Given the description of an element on the screen output the (x, y) to click on. 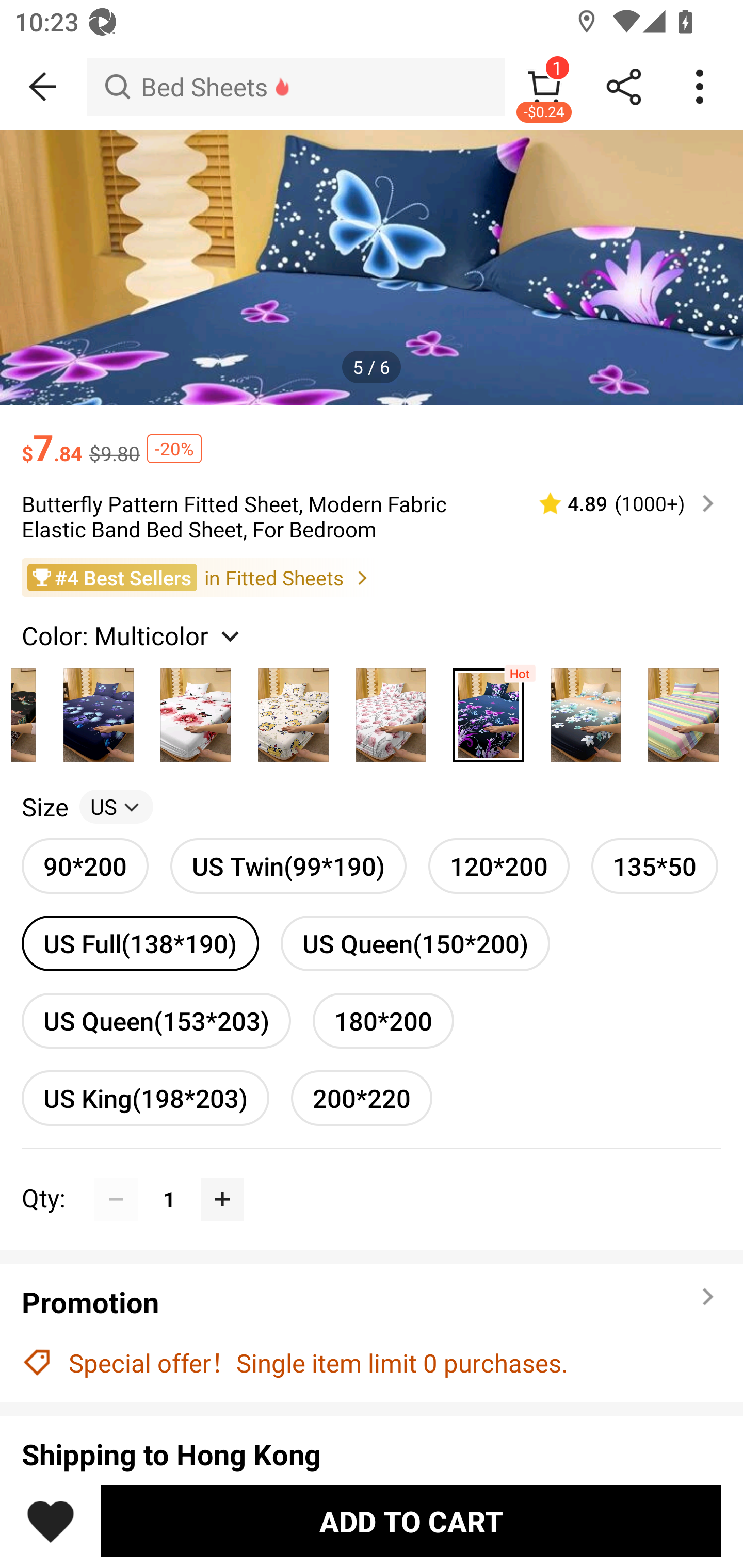
BACK (43, 86)
1 -$0.24 (543, 87)
Bed Sheets (295, 87)
PHOTOS 5 / 6 (371, 267)
5 / 6 (371, 366)
$7.84 $9.80 -20% (371, 437)
4.89 (1000‎+) (617, 503)
#4 Best Sellers in Fitted Sheets (371, 577)
Color: Multicolor (132, 634)
Multicolor (98, 710)
Multicolor (195, 710)
Multicolor (292, 710)
Multicolor (390, 710)
Multicolor (488, 710)
Multicolor (585, 710)
Multicolor (682, 710)
Size (44, 806)
US (116, 806)
90*200 90*200unselected option (84, 865)
US Twin(99*190) US Twin(99*190)unselected option (288, 865)
120*200 120*200unselected option (498, 865)
135*50 135*50unselected option (654, 865)
US Full(138*190) US Full(138*190)selected option (140, 942)
180*200 180*200unselected option (382, 1020)
US King(198*203) US King(198*203)unselected option (144, 1097)
200*220 200*220unselected option (361, 1097)
Qty: 1 (371, 1177)
Shipping to Hong Kong (371, 1453)
ADD TO CART (411, 1520)
Saved (50, 1520)
